Given the description of an element on the screen output the (x, y) to click on. 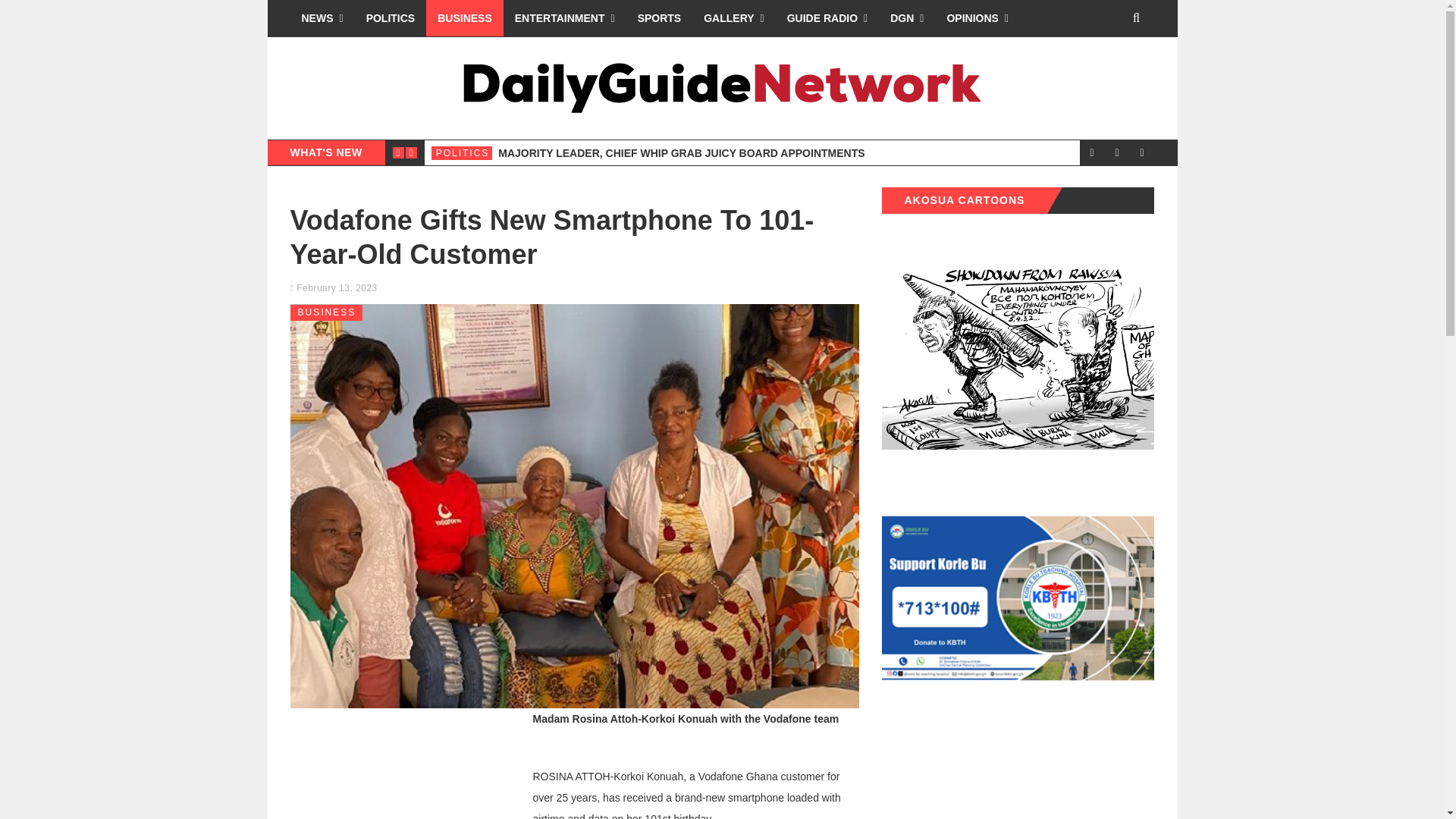
SPORTS (659, 18)
GUIDE RADIO (827, 18)
OPINIONS (977, 18)
BUSINESS (464, 18)
GALLERY (734, 18)
Majority Leader, Chief Whip Grab Juicy Board Appointments (680, 152)
Advertisement (994, 773)
DGN (906, 18)
NEWS (321, 18)
ENTERTAINMENT (564, 18)
Advertisement (402, 767)
POLITICS (390, 18)
